Given the description of an element on the screen output the (x, y) to click on. 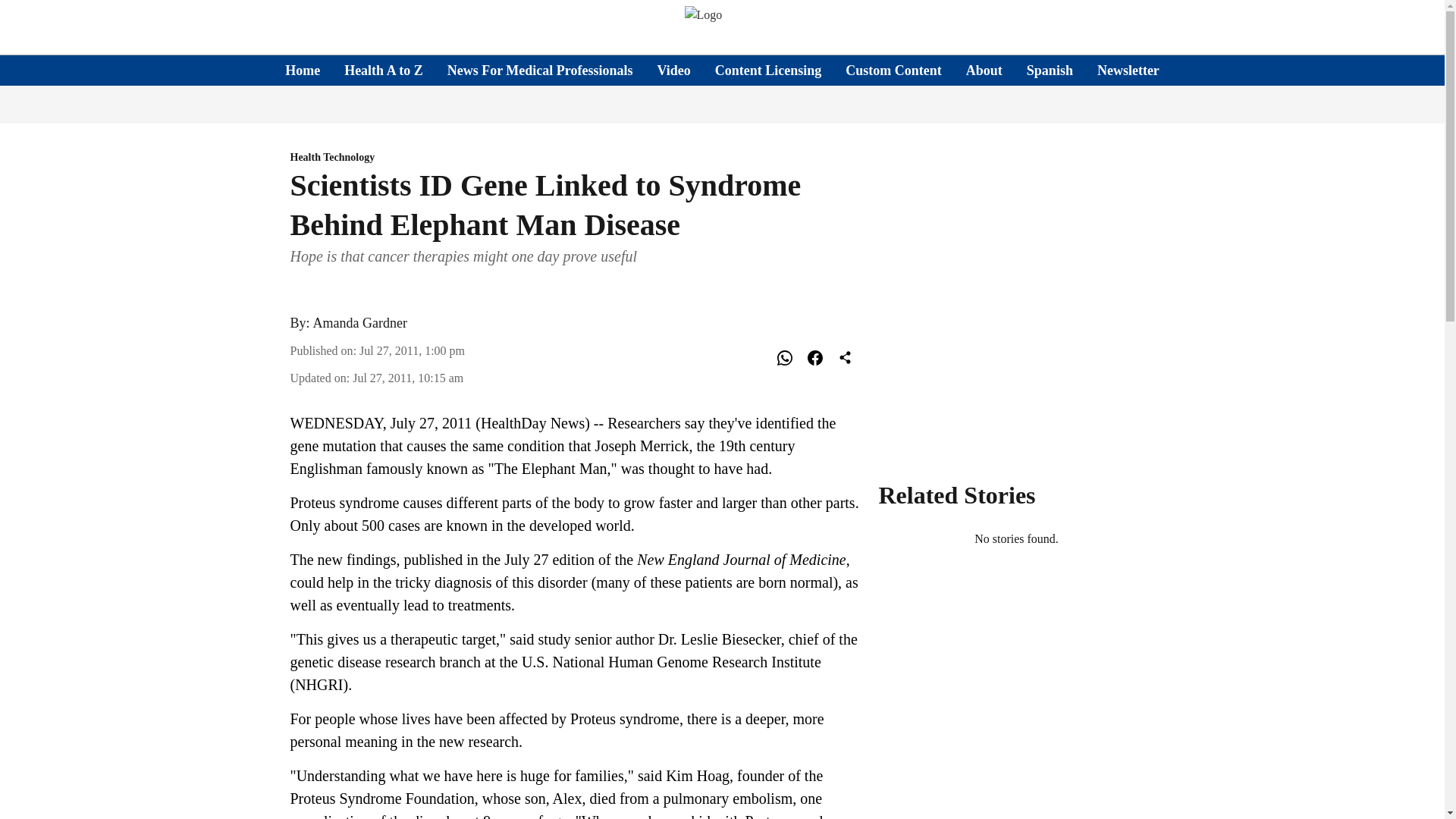
2011-07-27 10:15 (407, 377)
2011-07-27 13:00 (411, 350)
Health A to Z (383, 70)
Home (302, 70)
